Given the description of an element on the screen output the (x, y) to click on. 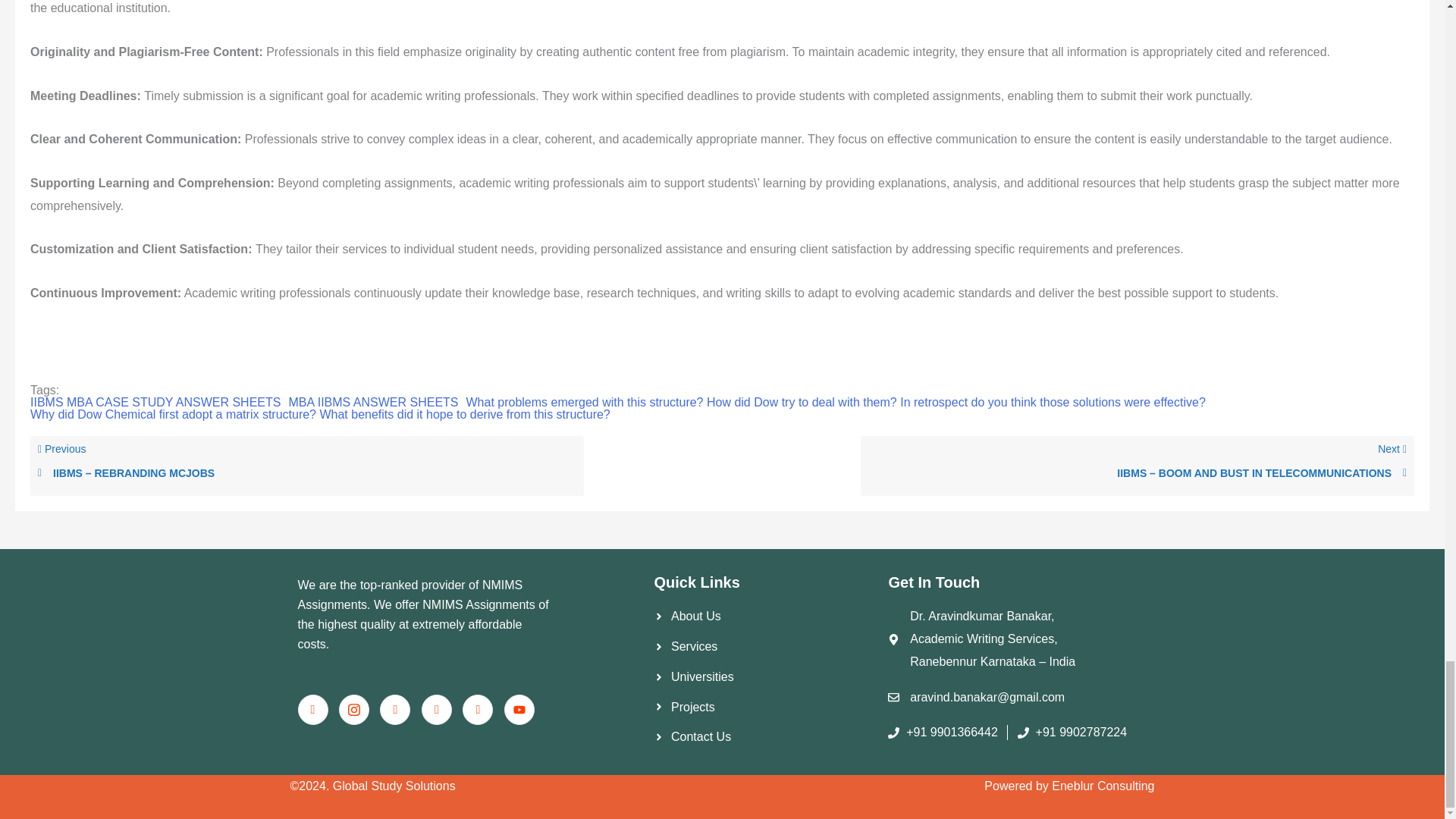
IIBMS MBA CASE STUDY ANSWER SHEETS (155, 401)
MBA IIBMS ANSWER SHEETS (373, 401)
